Given the description of an element on the screen output the (x, y) to click on. 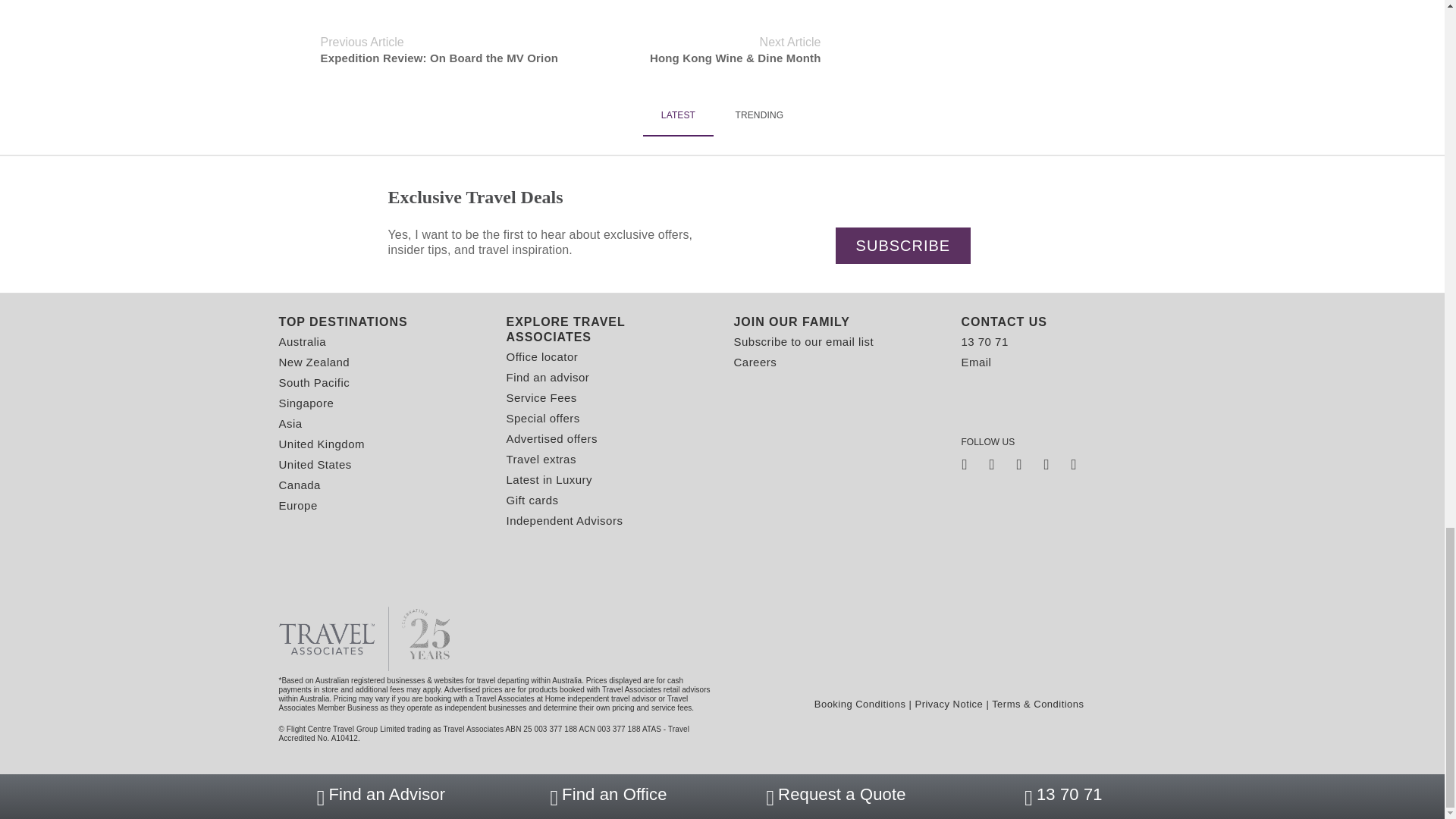
Contact Us (1063, 322)
Join our family (836, 322)
Top Destinations (381, 322)
Explore Travel Associates (608, 329)
